Given the description of an element on the screen output the (x, y) to click on. 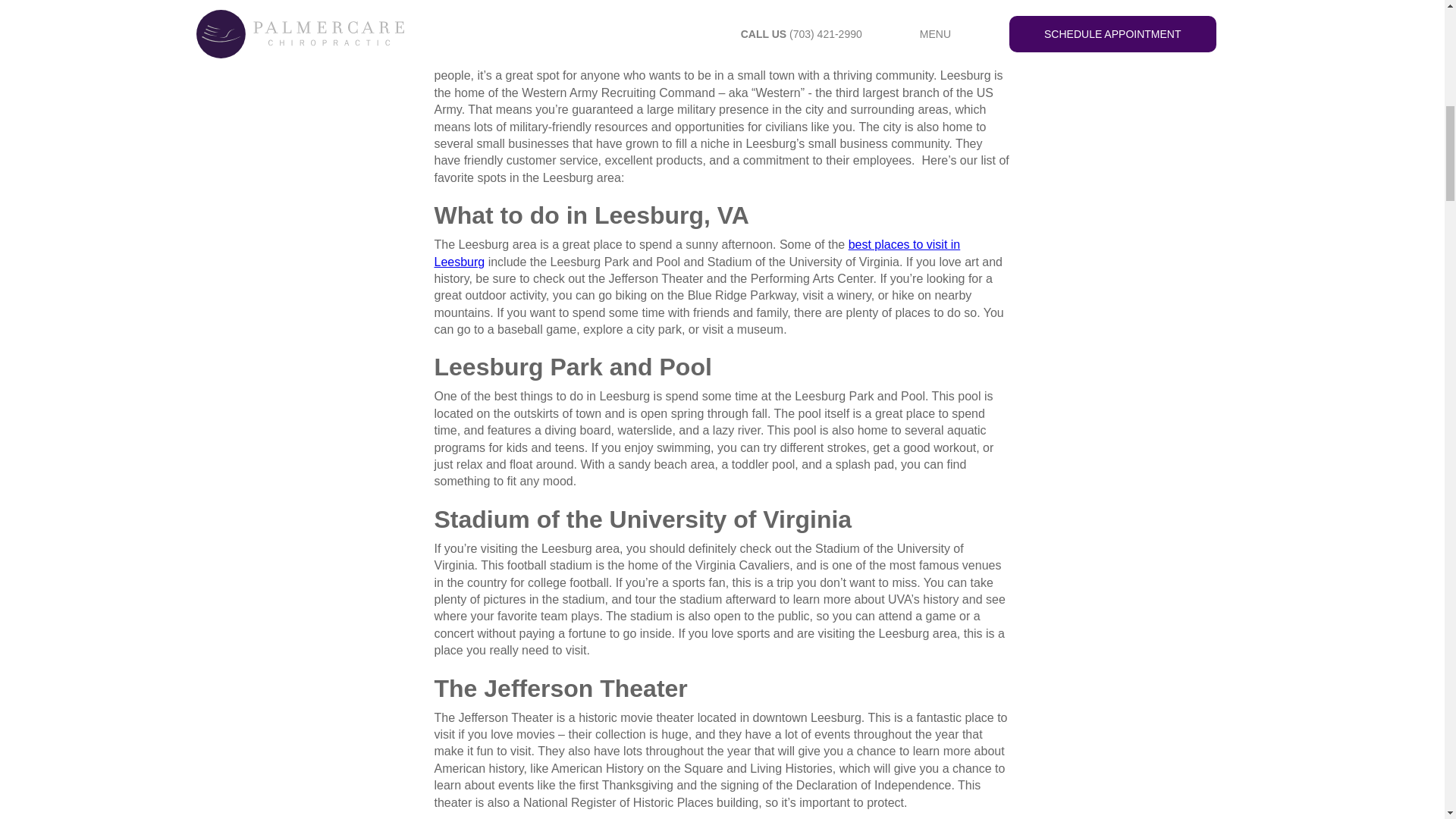
best places to visit in Leesburg (696, 252)
